Given the description of an element on the screen output the (x, y) to click on. 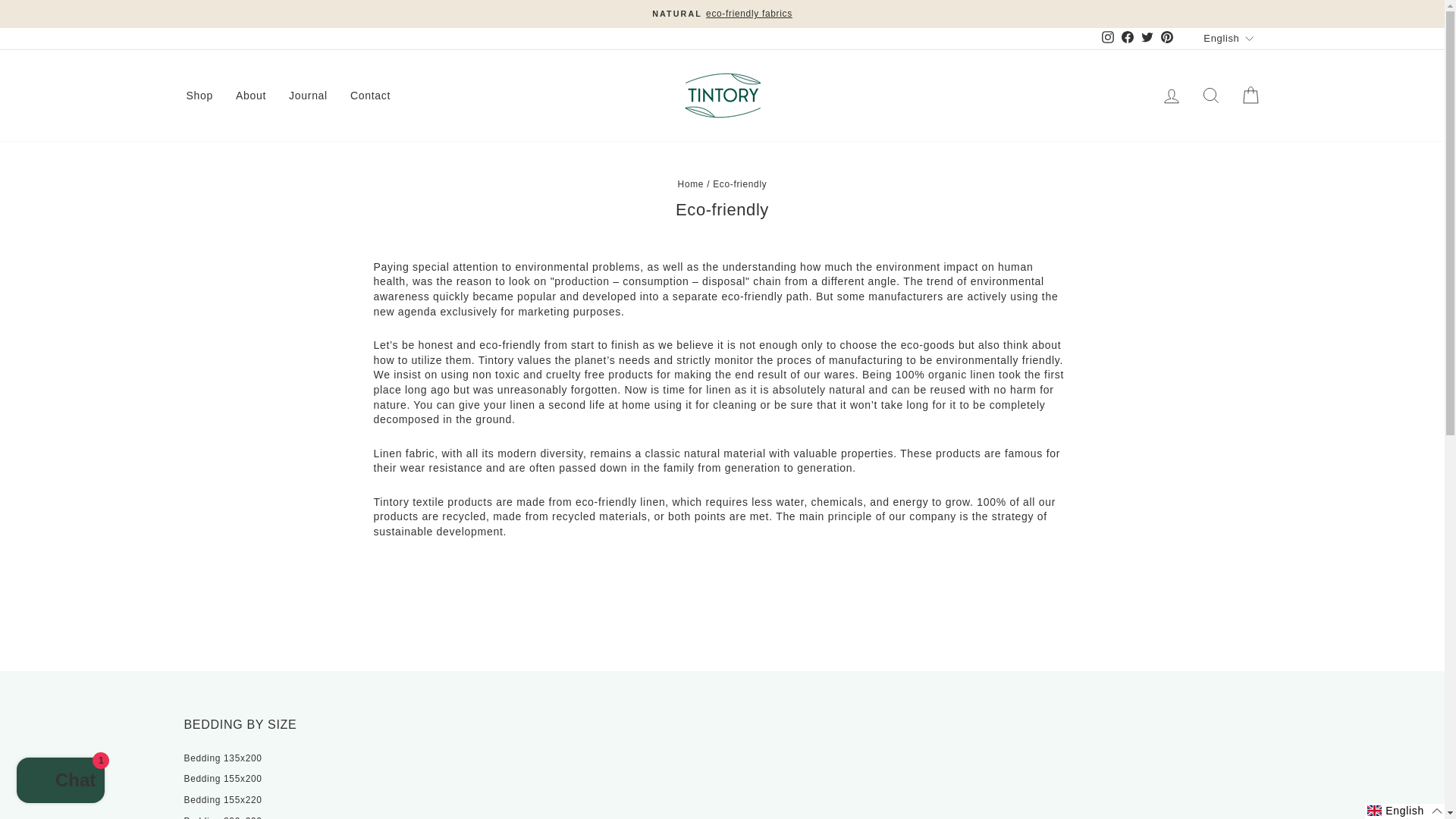
TINTORY Store on Twitter (1147, 38)
TINTORY Store on Facebook (1127, 38)
TINTORY Store on Instagram (1107, 38)
TINTORY Store on Pinterest (1166, 38)
Back to the frontpage (691, 184)
